Given the description of an element on the screen output the (x, y) to click on. 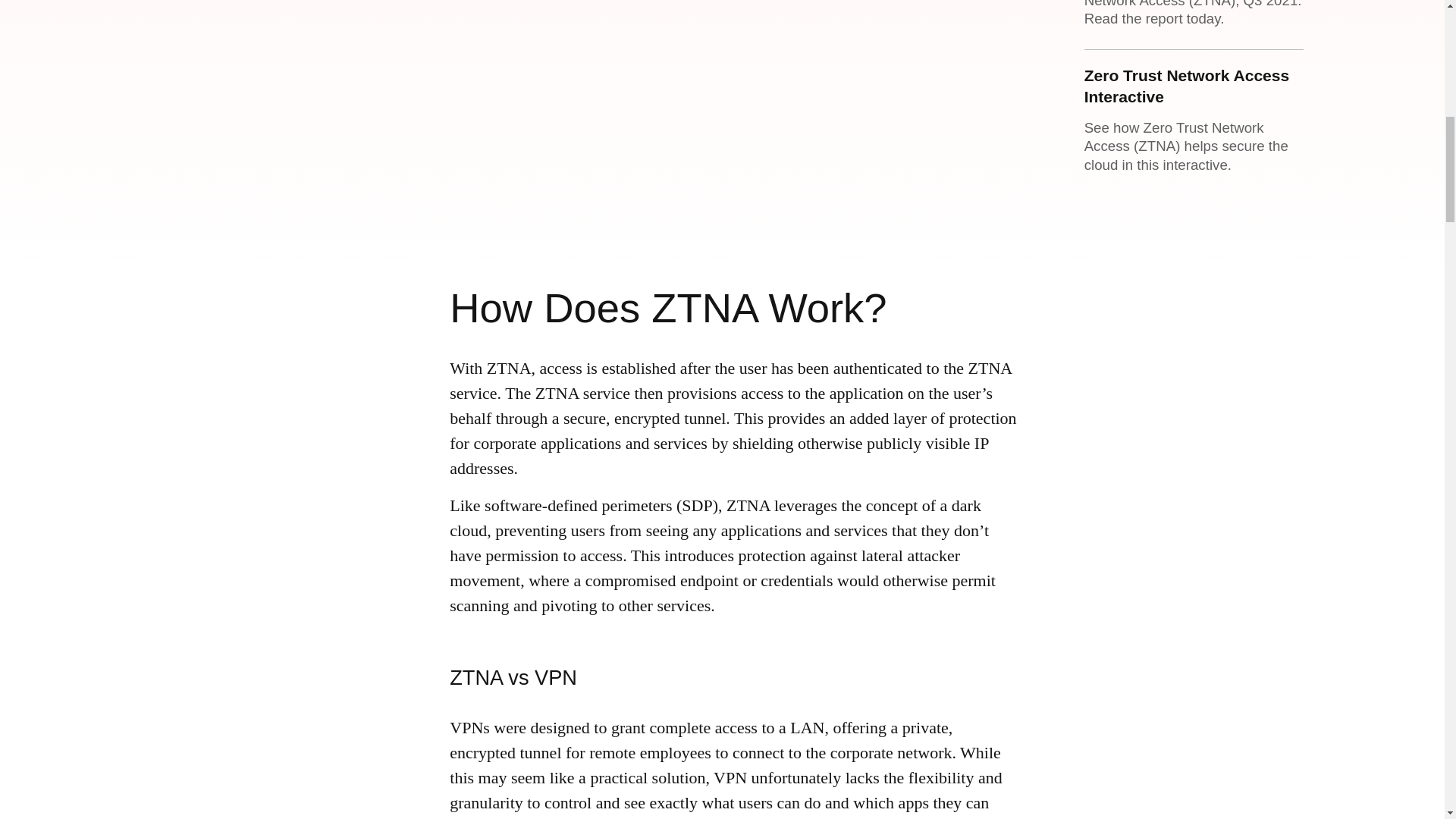
YouTube video player (662, 100)
